Given the description of an element on the screen output the (x, y) to click on. 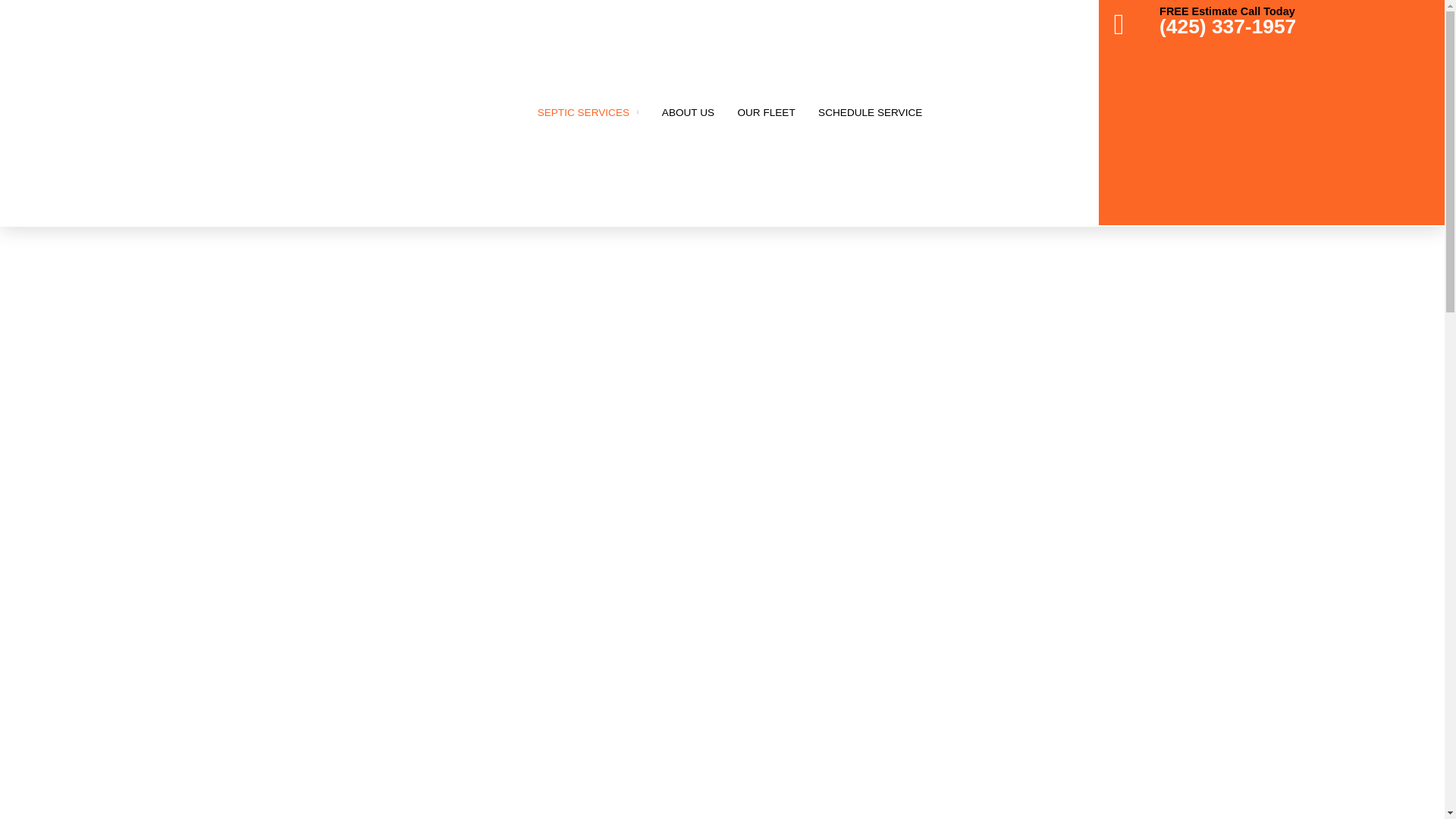
OUR FLEET (765, 112)
SEPTIC SERVICES (587, 112)
SCHEDULE SERVICE (870, 112)
ABOUT US (688, 112)
